Given the description of an element on the screen output the (x, y) to click on. 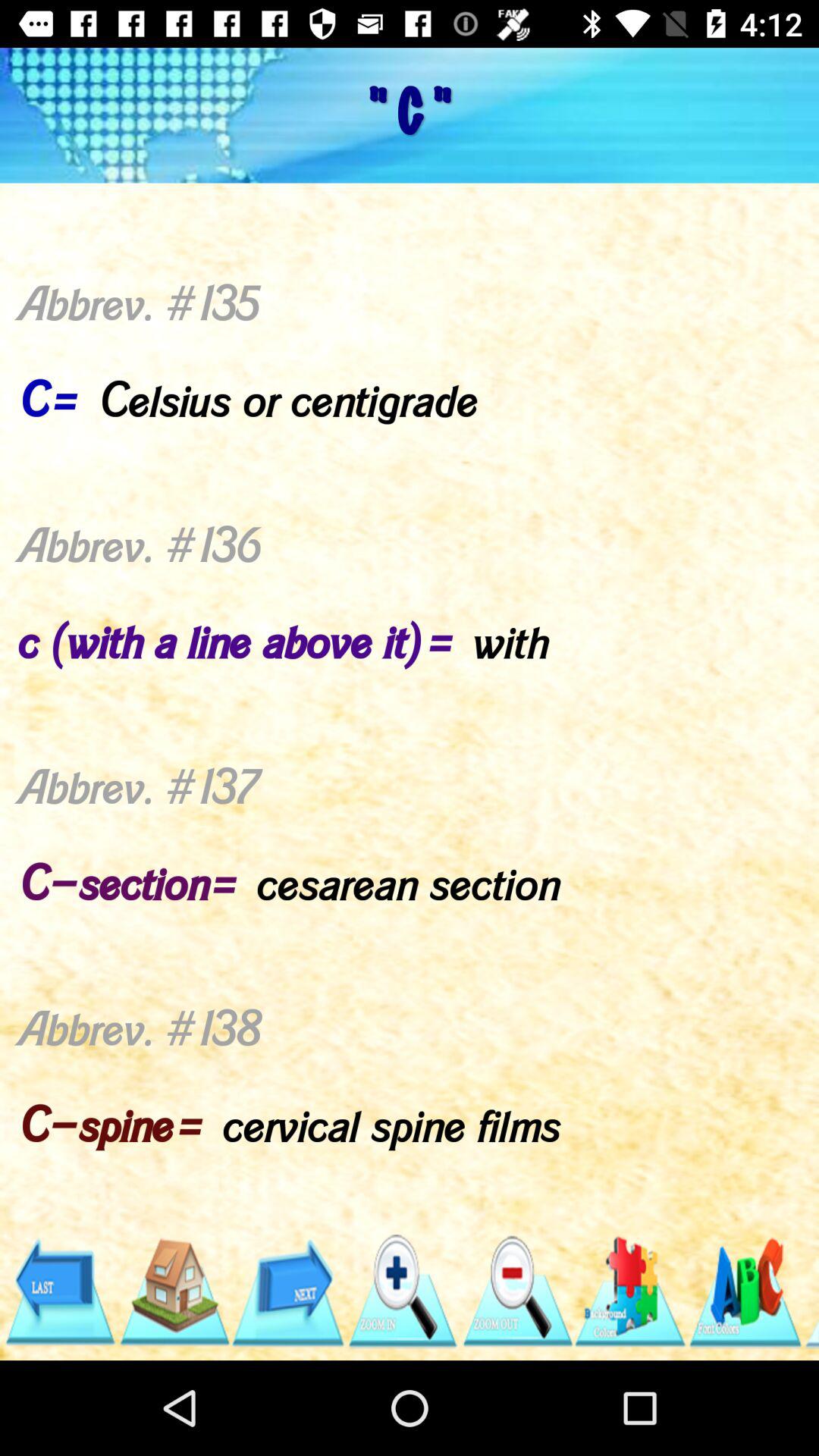
zoom in (402, 1291)
